Given the description of an element on the screen output the (x, y) to click on. 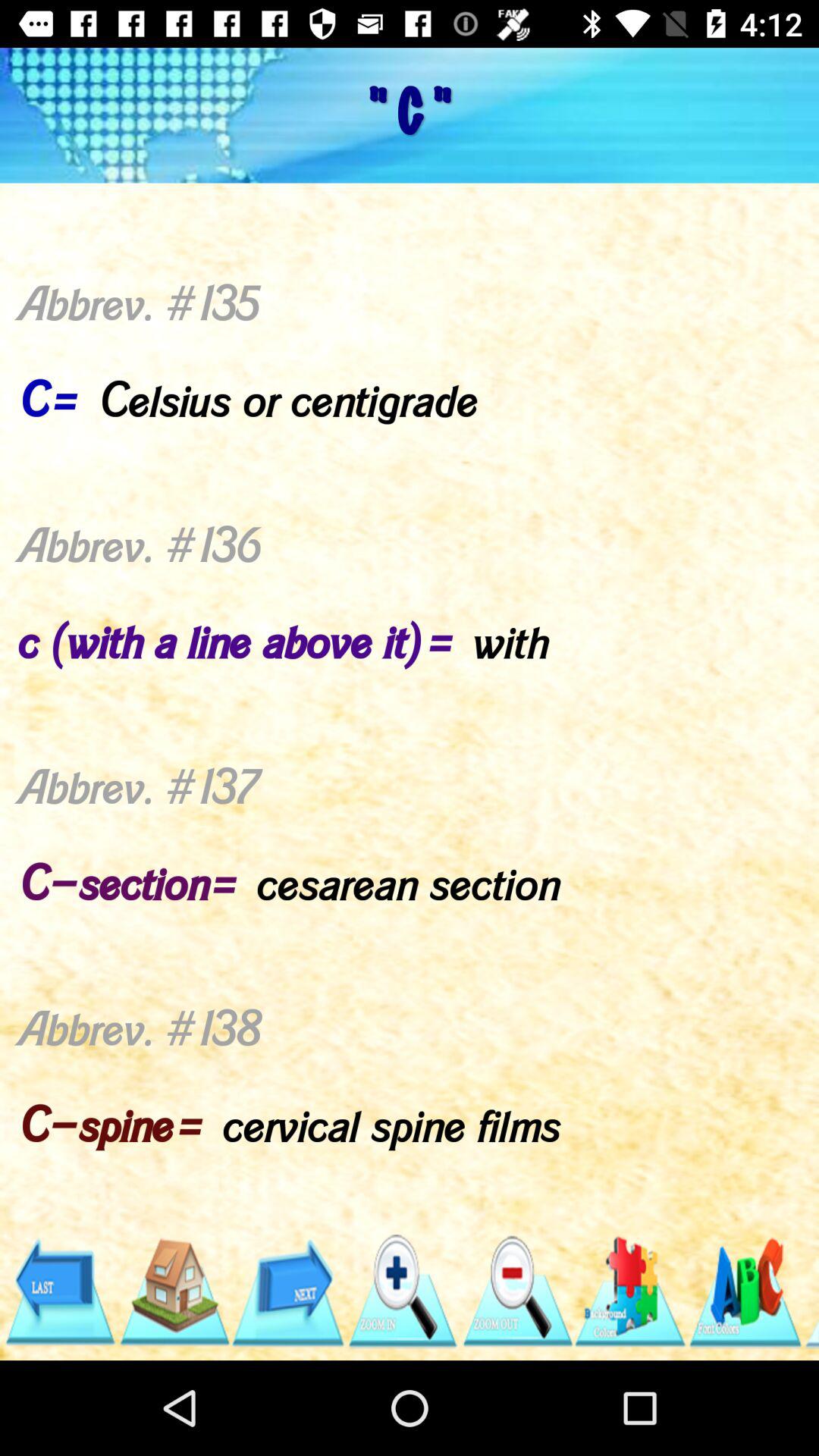
zoom in (402, 1291)
